Given the description of an element on the screen output the (x, y) to click on. 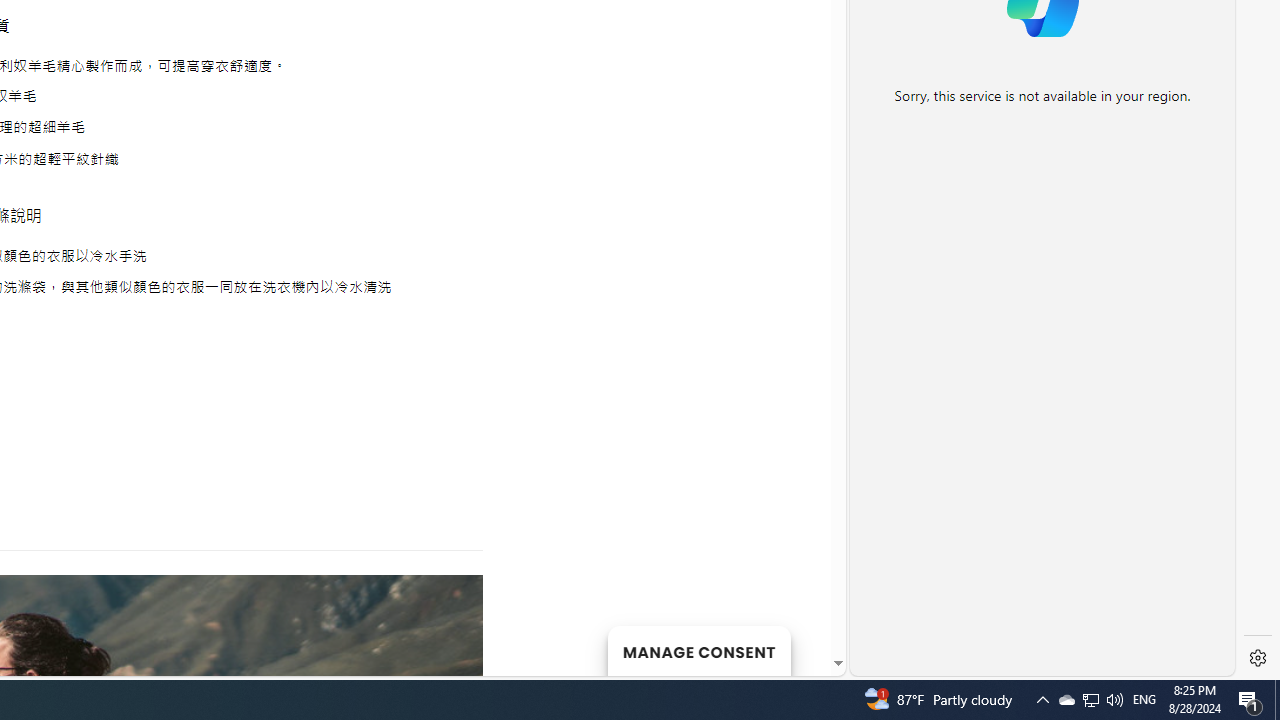
MANAGE CONSENT (698, 650)
Settings (1258, 658)
